Given the description of an element on the screen output the (x, y) to click on. 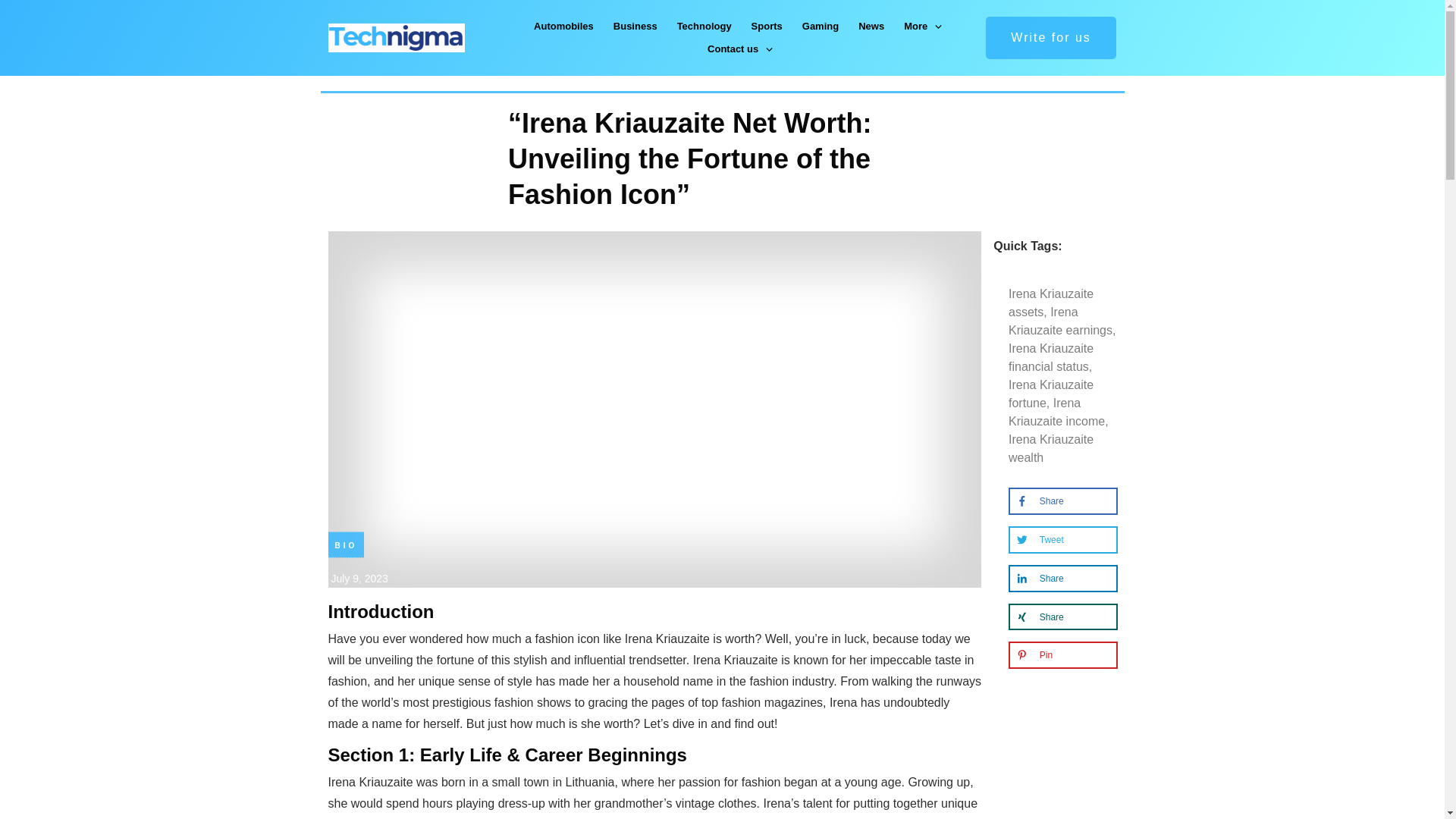
BIO (346, 545)
Share (1037, 578)
Automobiles (564, 26)
Irena Kriauzaite income (1057, 411)
Bio (346, 545)
Share (1037, 500)
Irena Kriauzaite earnings (1060, 320)
Sports (767, 26)
Irena Kriauzaite fortune (1051, 393)
Gaming (820, 26)
Business (635, 26)
News (871, 26)
Irena Kriauzaite fortune (1051, 393)
Irena Kriauzaite financial status (1051, 357)
Irena Kriauzaite wealth (1051, 448)
